Given the description of an element on the screen output the (x, y) to click on. 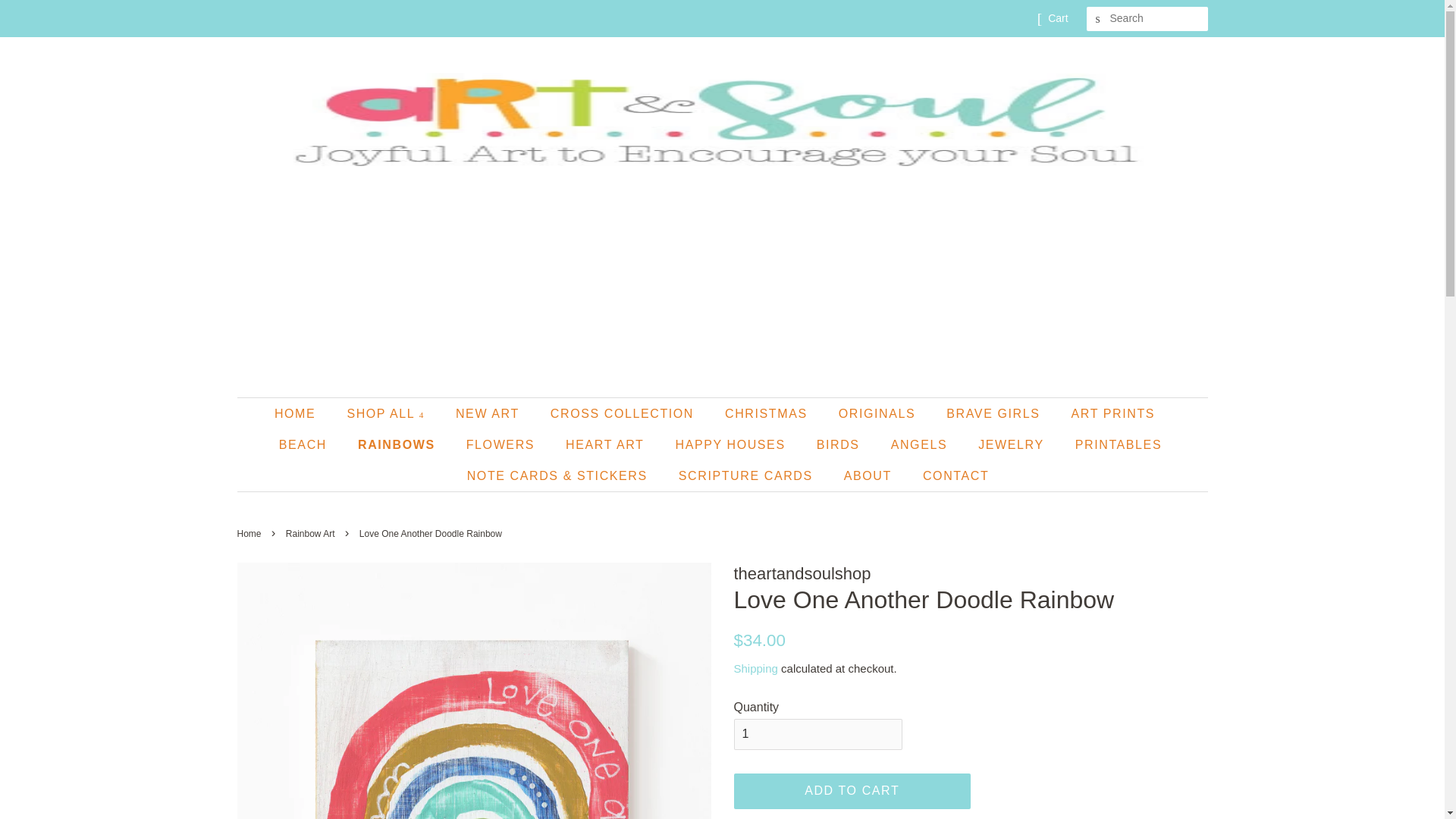
SHOP ALL (386, 413)
Back to the frontpage (249, 533)
1 (817, 734)
Cart (1057, 18)
SEARCH (1097, 18)
HOME (302, 413)
